Given the description of an element on the screen output the (x, y) to click on. 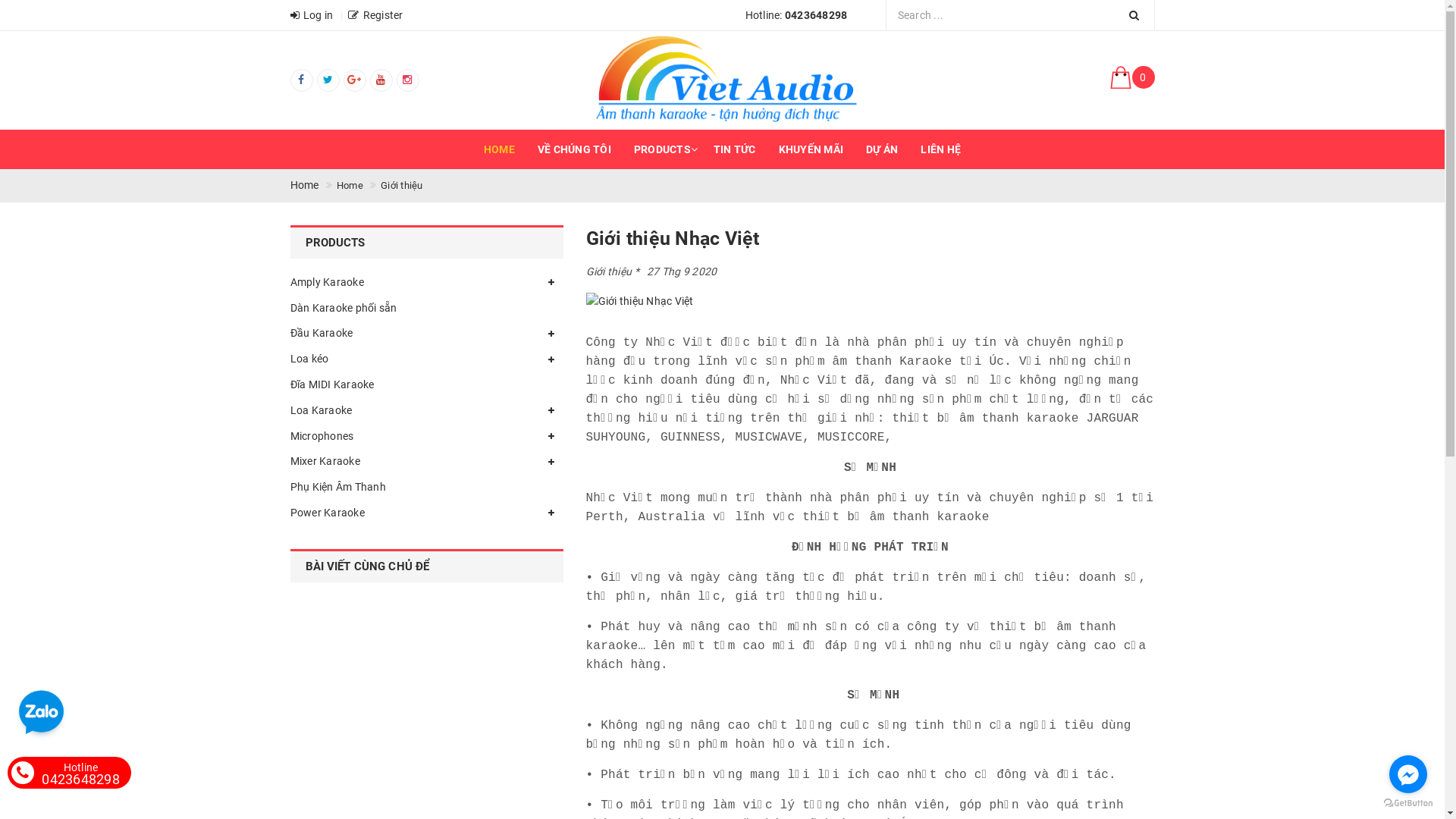
Register Element type: text (375, 15)
0423648298 Element type: text (815, 15)
zalo Element type: hover (40, 714)
Hotline
0423648298 Element type: text (80, 772)
PRODUCTS Element type: text (425, 242)
Loa Karaoke Element type: text (425, 410)
PRODUCTS Element type: text (662, 149)
Log in Element type: text (310, 15)
Power Karaoke Element type: text (425, 513)
Home Element type: text (303, 185)
Mixer Karaoke Element type: text (425, 461)
keyword Element type: hover (1019, 15)
0 Element type: text (1017, 79)
HOME Element type: text (499, 149)
Microphones Element type: text (425, 436)
logo Element type: hover (721, 80)
Amply Karaoke Element type: text (425, 282)
Home Element type: text (349, 185)
